Given the description of an element on the screen output the (x, y) to click on. 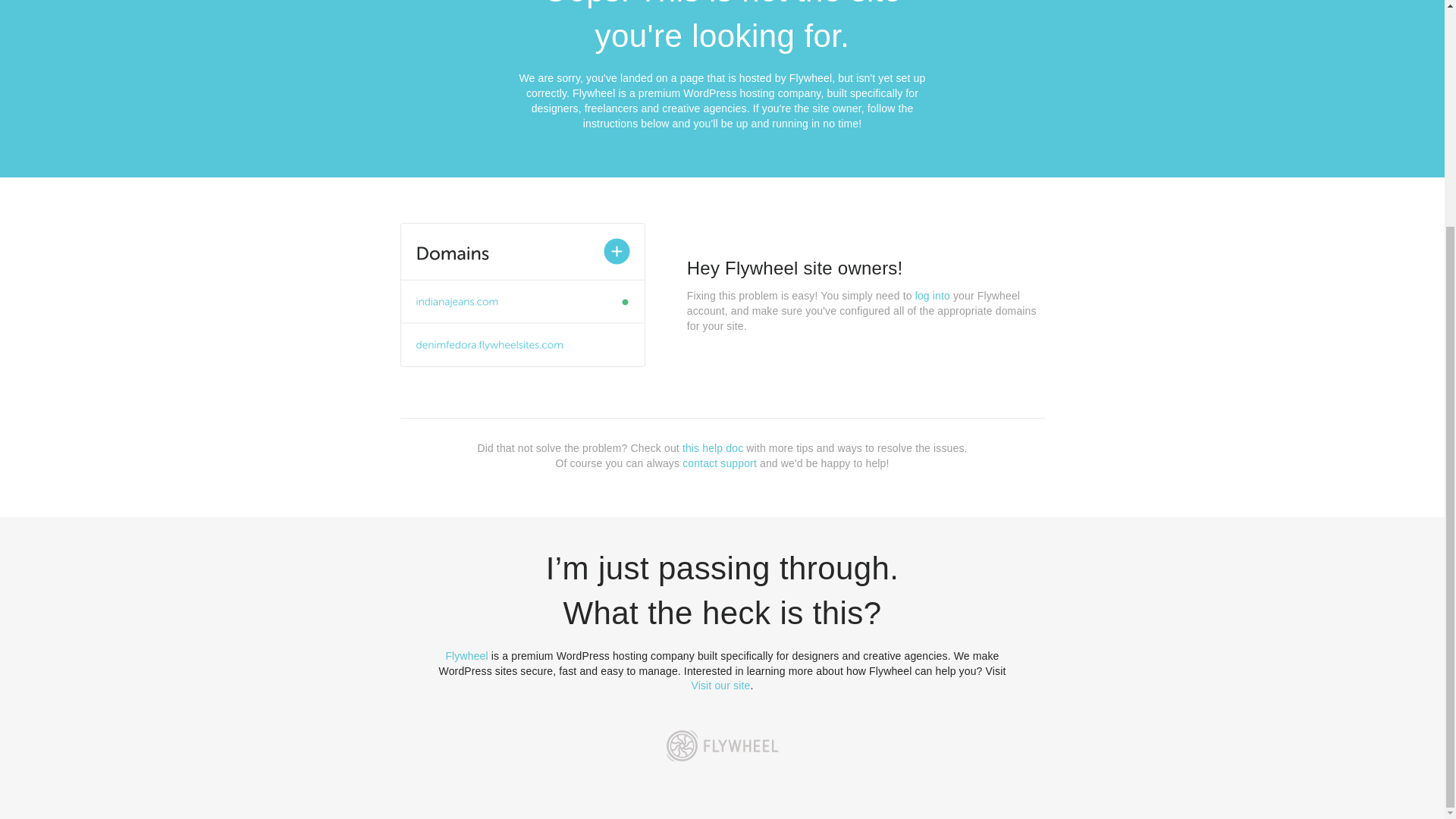
Visit our site (721, 685)
Flywheel (466, 655)
log into (932, 295)
this help doc (712, 448)
contact support (719, 463)
